Given the description of an element on the screen output the (x, y) to click on. 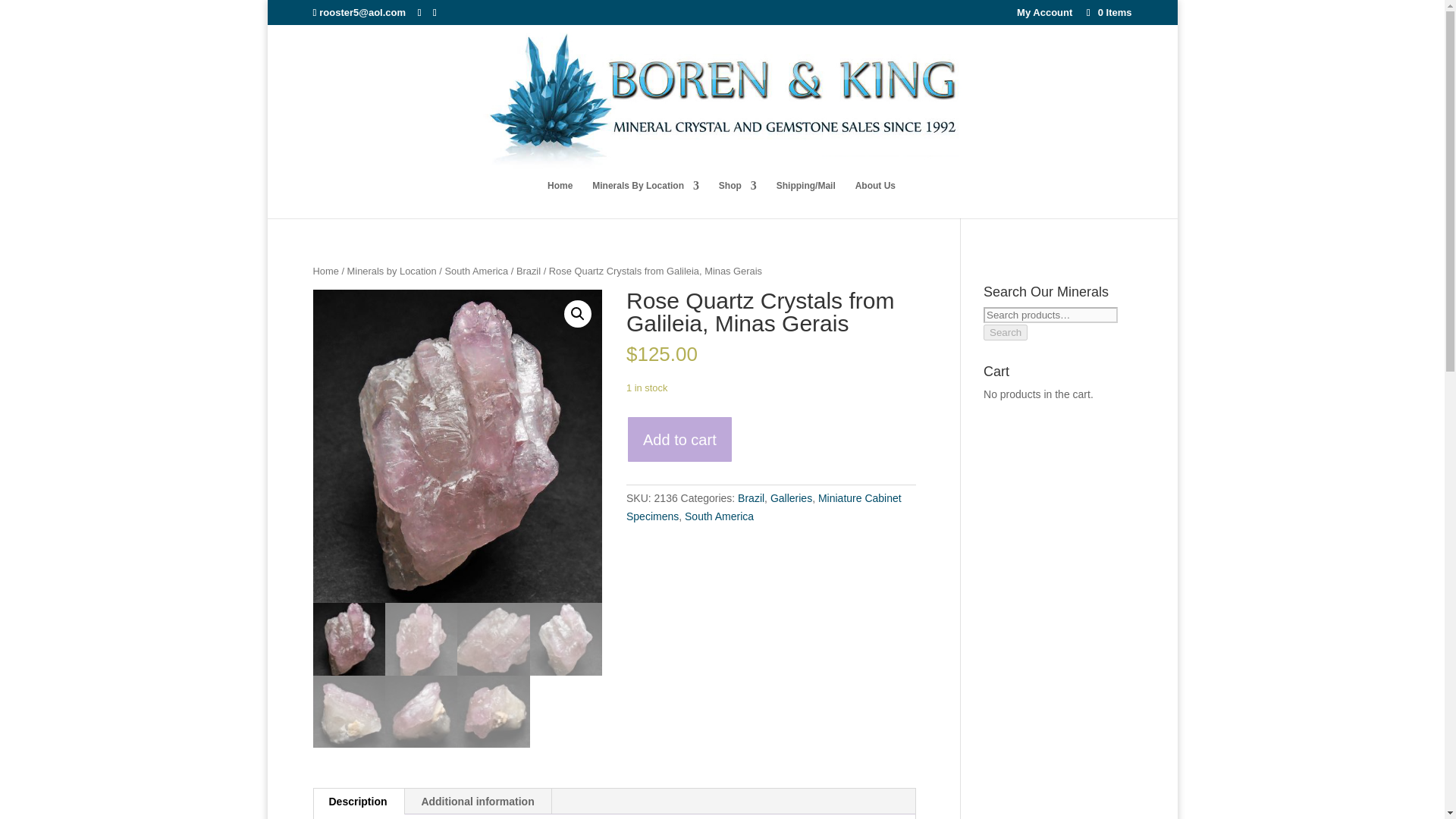
My Account (1043, 16)
Rose Quartz Crystals from Galileia, Minas Gerais (457, 445)
Minerals By Location (645, 199)
0 Items (1107, 12)
